Given the description of an element on the screen output the (x, y) to click on. 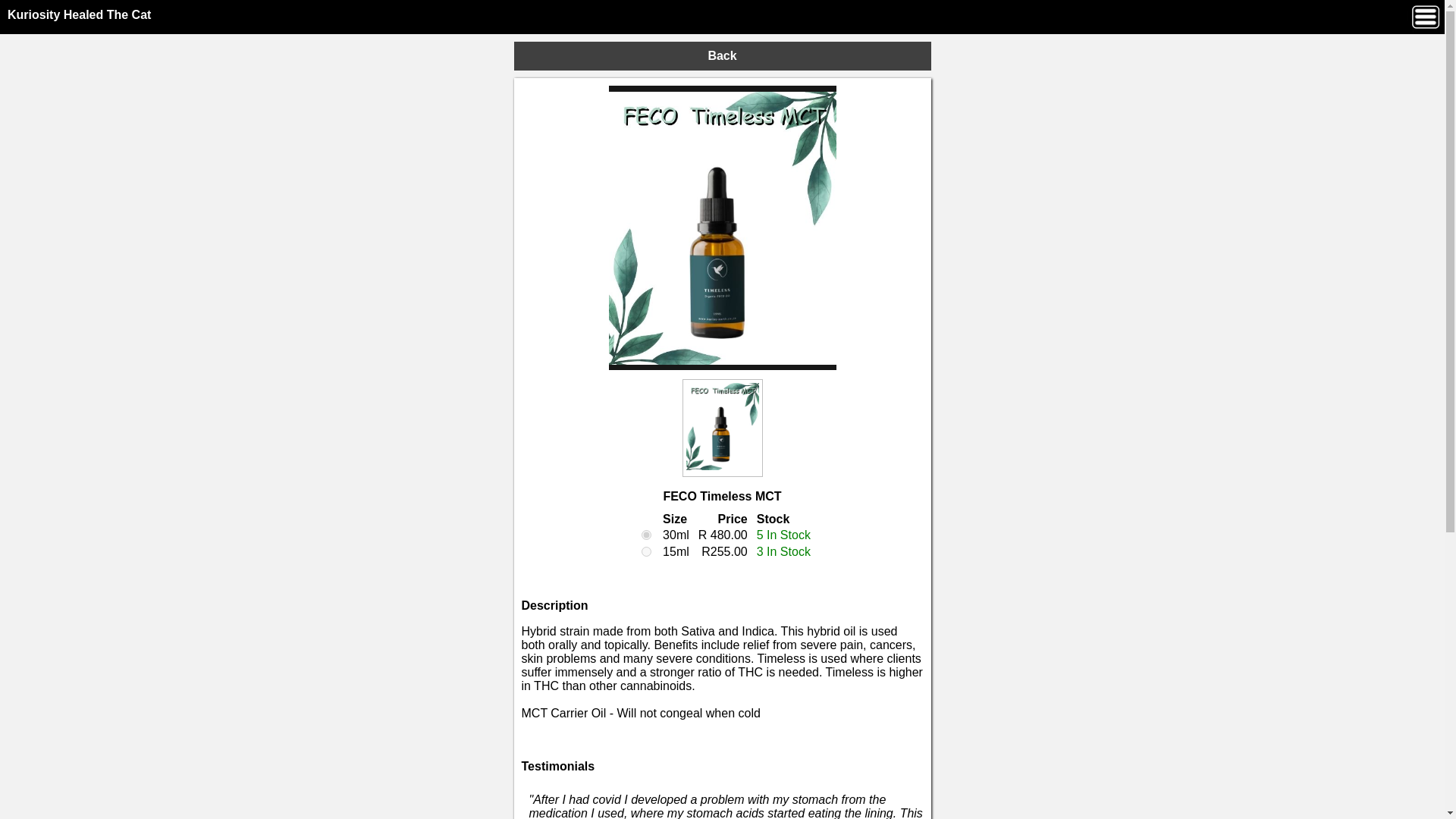
FECO Timeless MCT - 15ml, 255 (646, 551)
FECO Timeless MCT - 30ml, 480 (646, 534)
Back (722, 55)
